Given the description of an element on the screen output the (x, y) to click on. 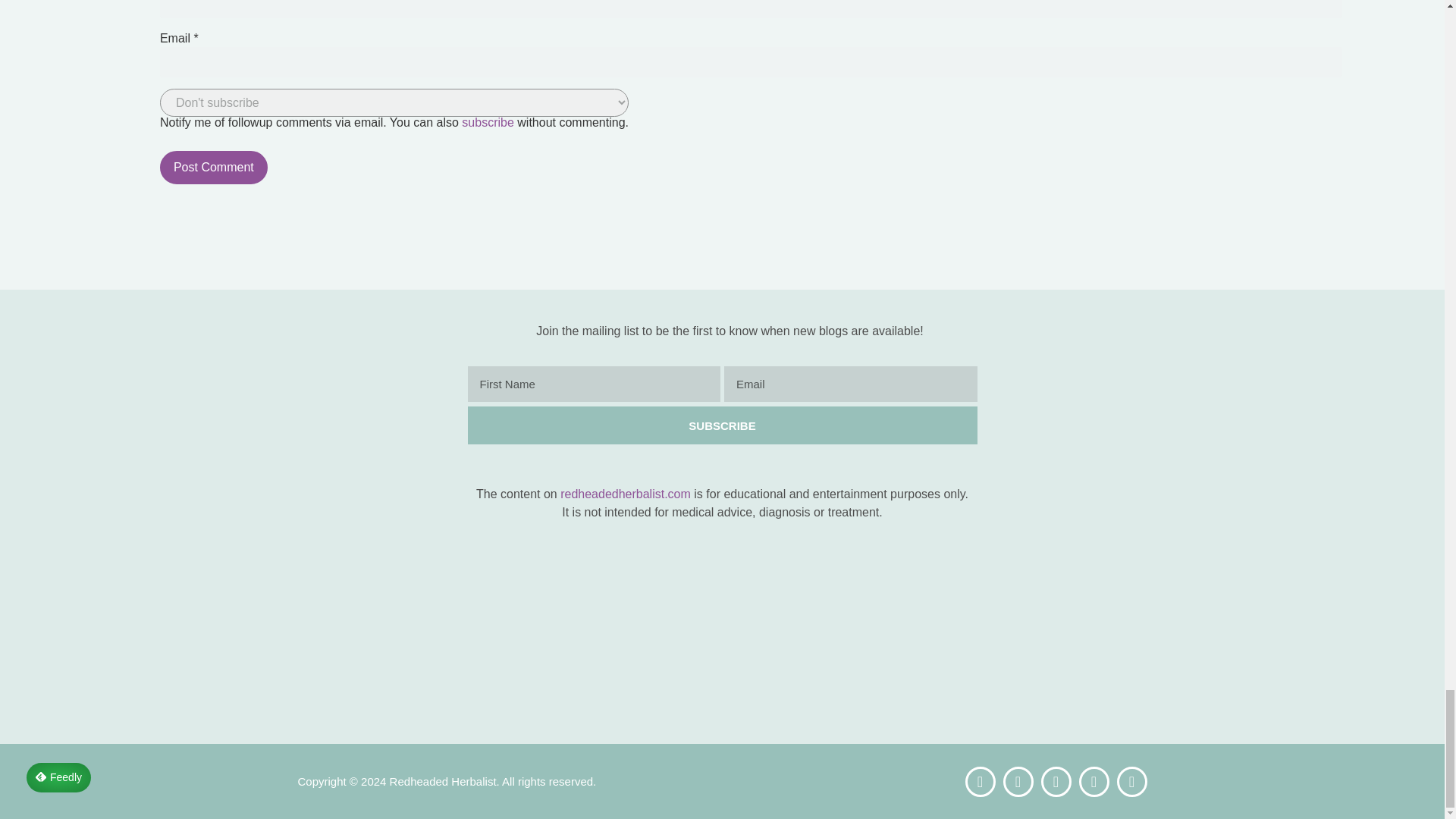
Post Comment (213, 167)
